Given the description of an element on the screen output the (x, y) to click on. 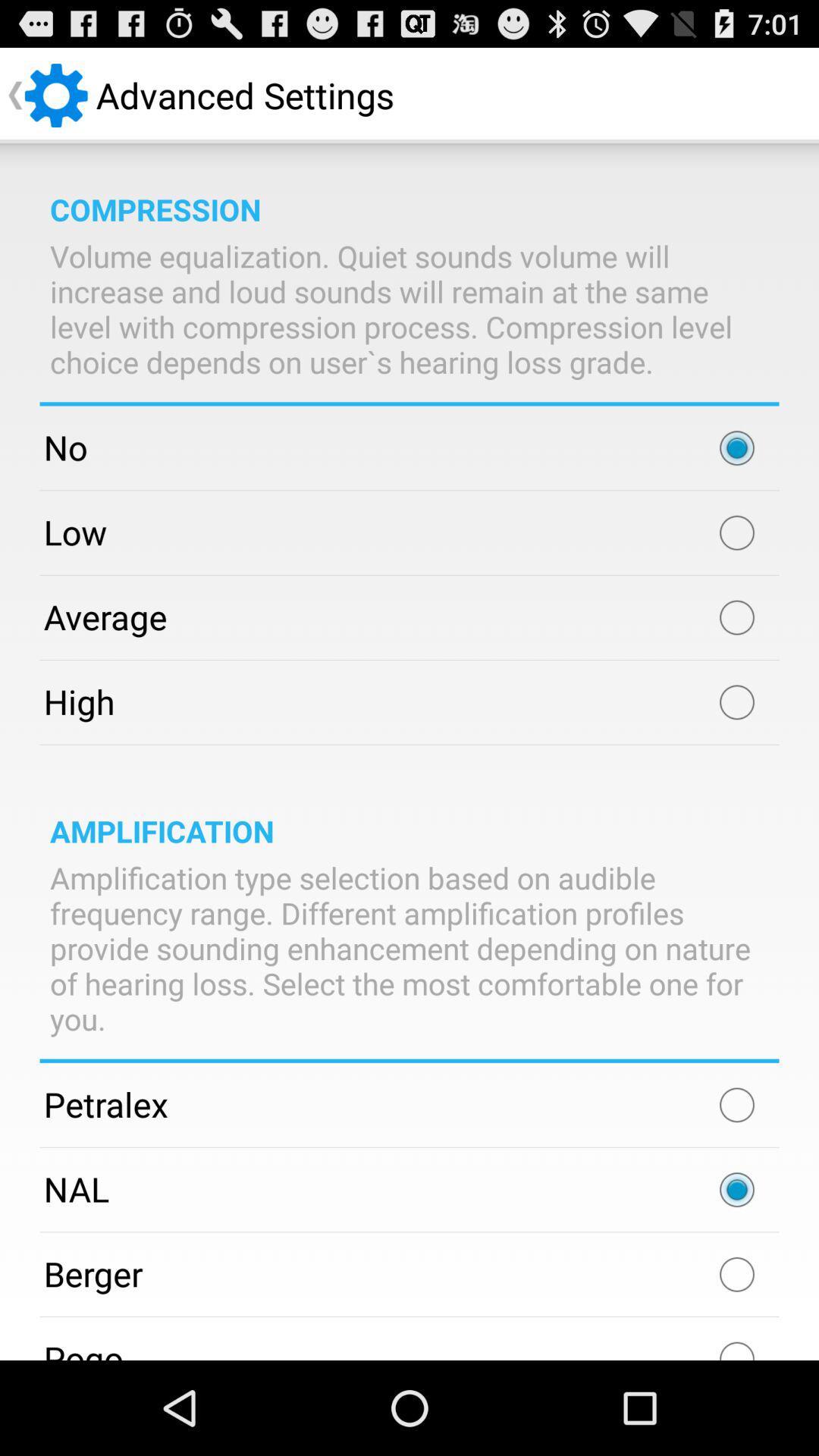
select low (736, 532)
